Given the description of an element on the screen output the (x, y) to click on. 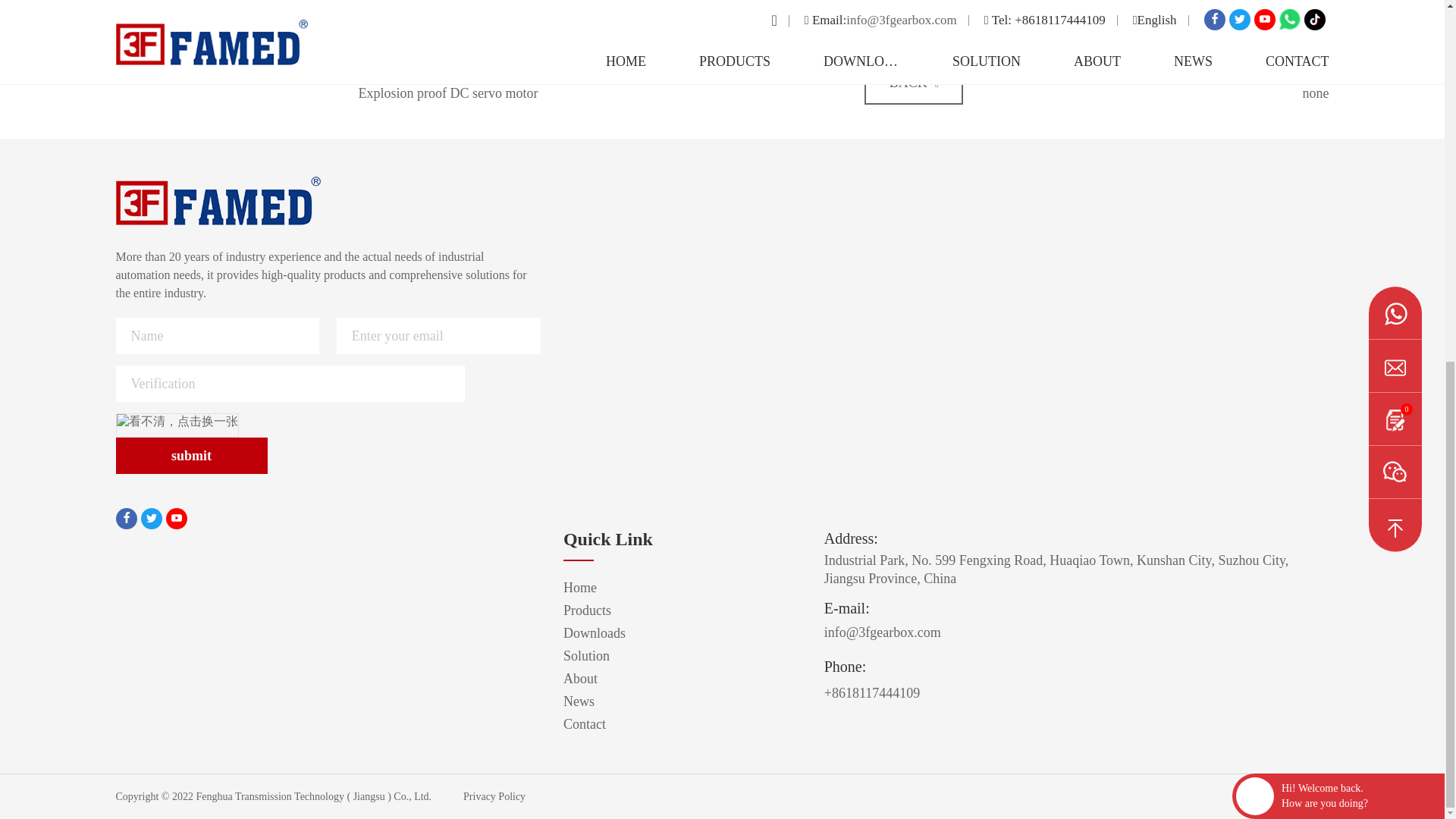
submit (190, 455)
